Given the description of an element on the screen output the (x, y) to click on. 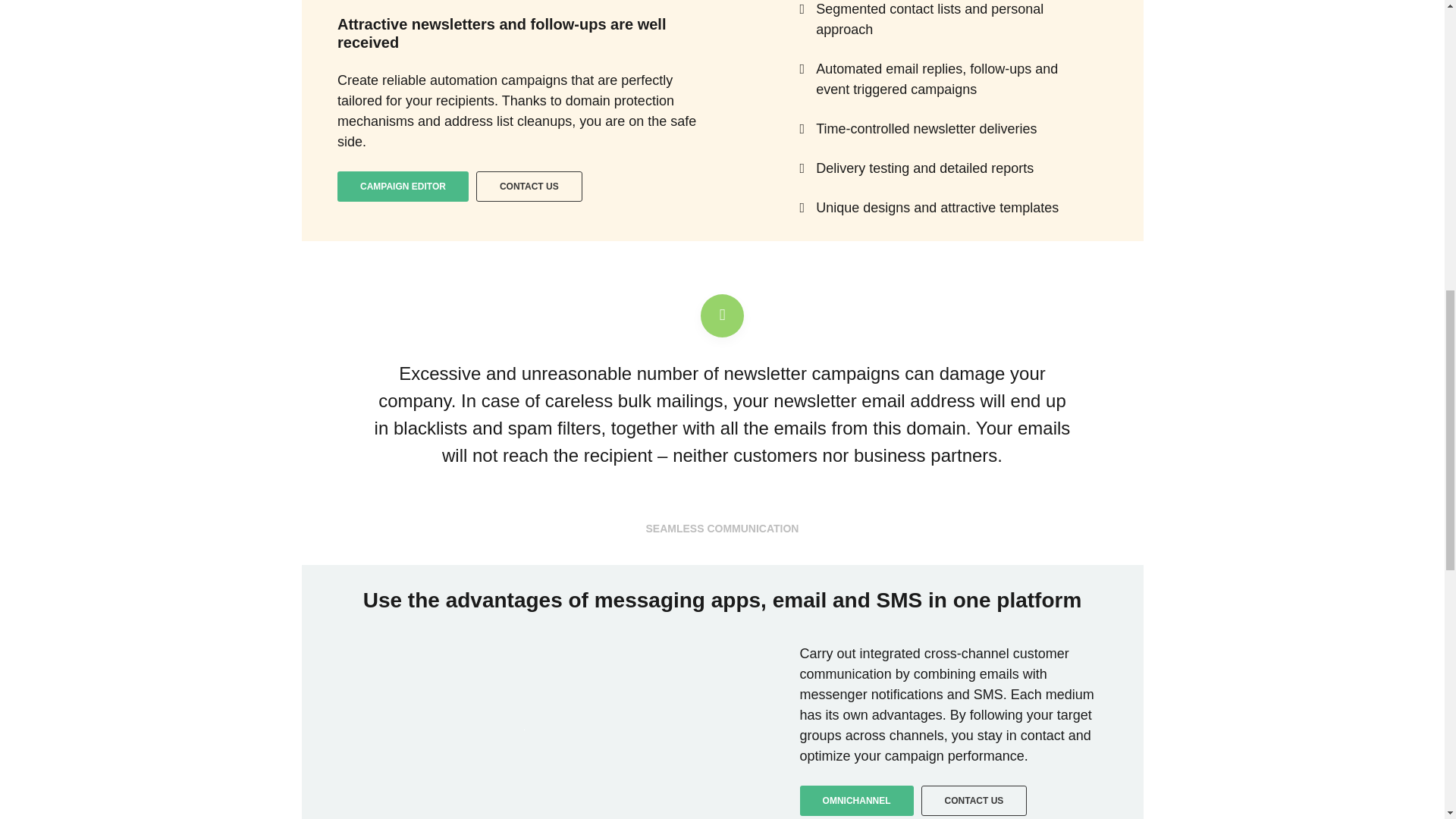
CAMPAIGN EDITOR (402, 186)
OMNICHANNEL (856, 800)
Attractive newsletters and follow-ups are well received (501, 32)
CONTACT US (974, 800)
CONTACT US (529, 186)
